Given the description of an element on the screen output the (x, y) to click on. 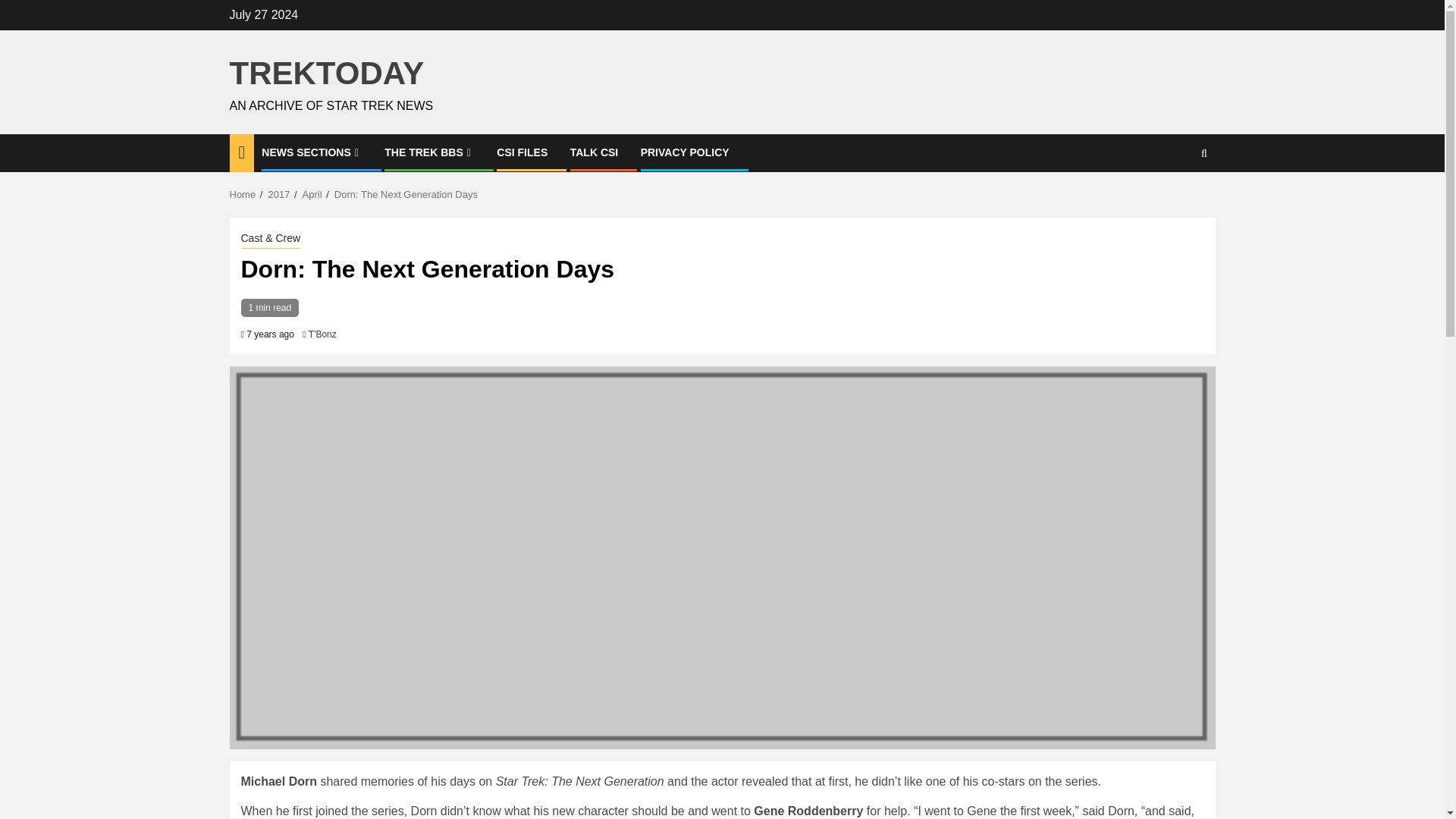
THE TREK BBS (429, 152)
April (311, 194)
2017 (278, 194)
T'Bonz (322, 334)
Dorn: The Next Generation Days (405, 194)
Search (1174, 199)
NEWS SECTIONS (312, 152)
PRIVACY POLICY (684, 152)
Home (242, 194)
TREKTODAY (325, 72)
TALK CSI (594, 152)
CSI FILES (521, 152)
